Given the description of an element on the screen output the (x, y) to click on. 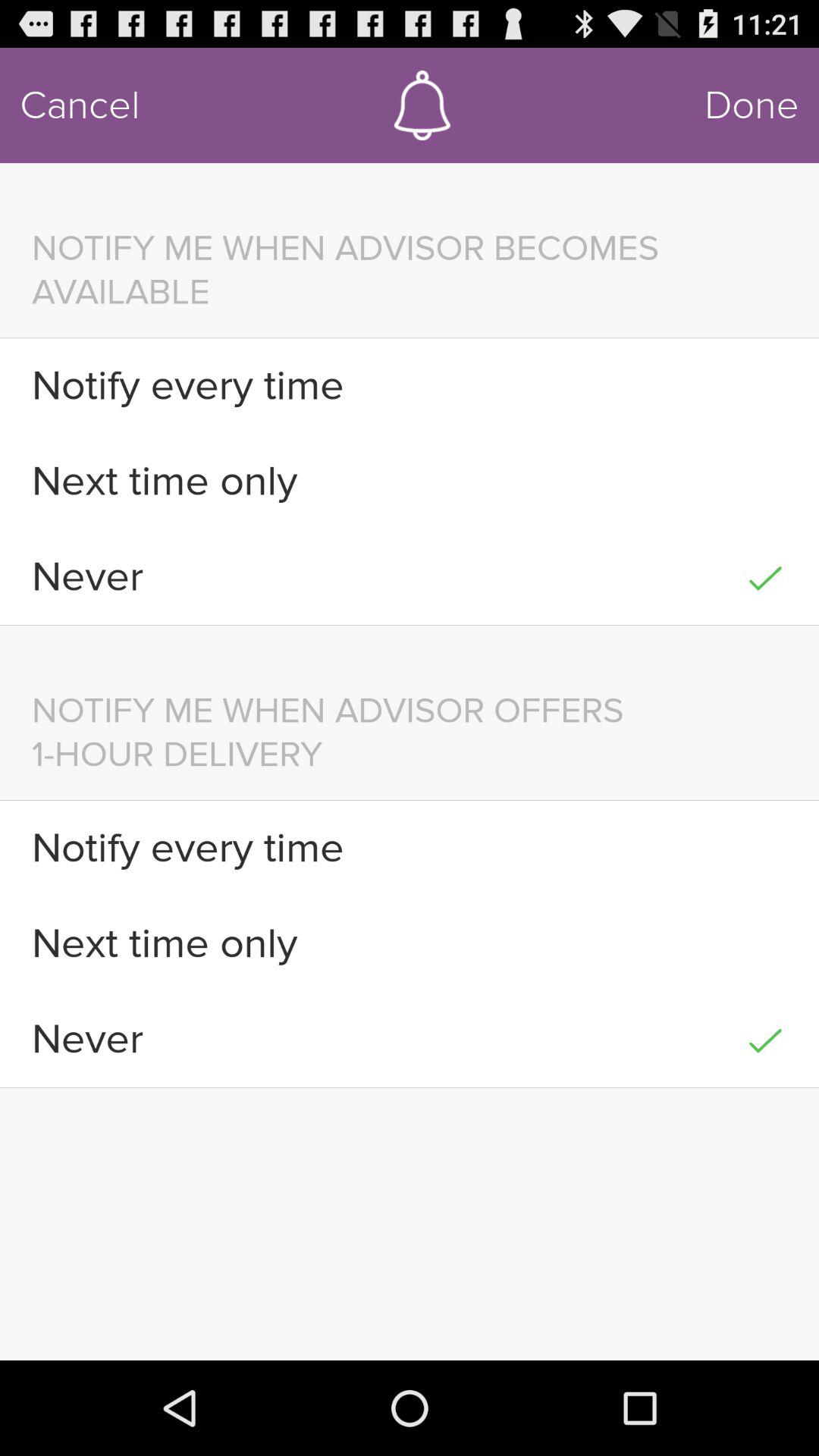
press the item next to never item (765, 1039)
